Given the description of an element on the screen output the (x, y) to click on. 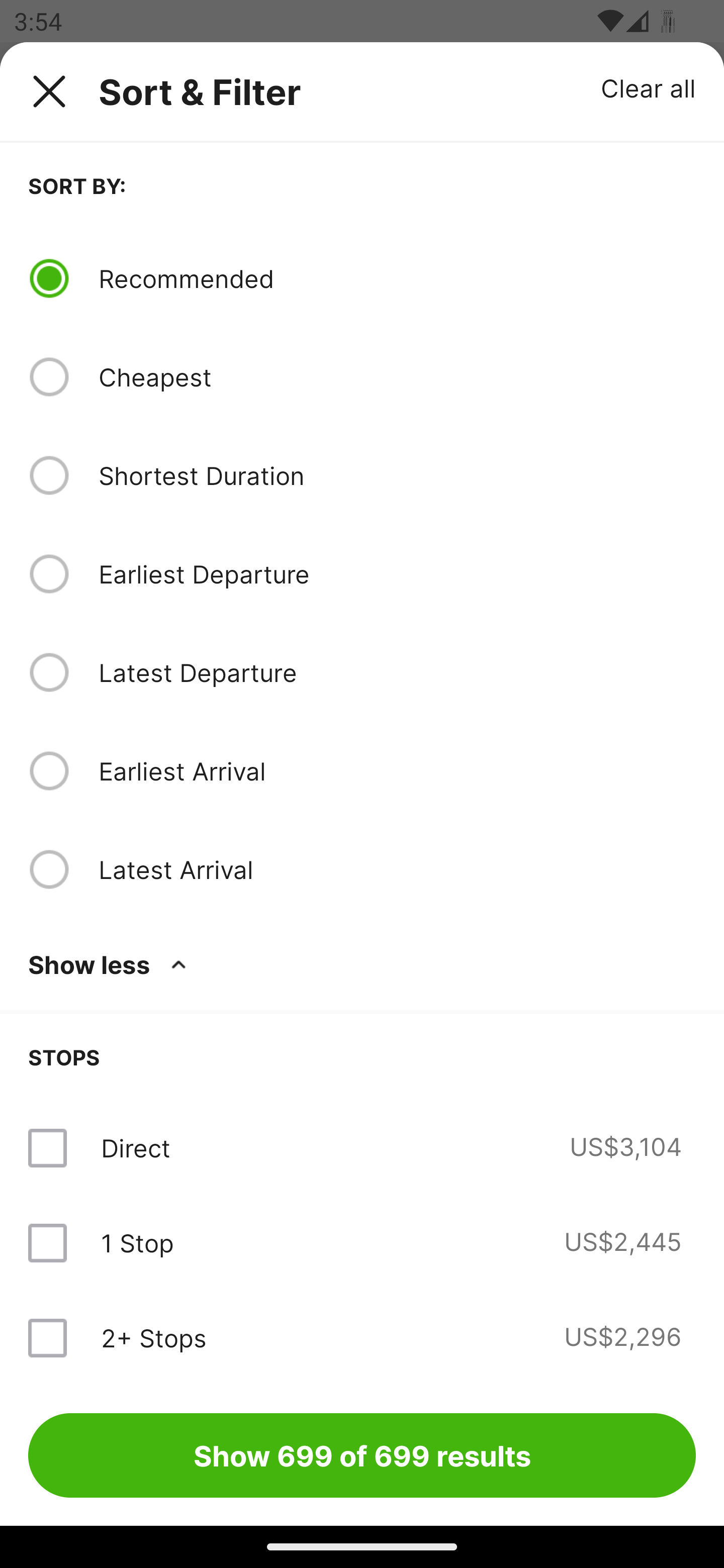
Clear all (648, 87)
Recommended  (396, 278)
Cheapest (396, 377)
Shortest Duration (396, 474)
Earliest Departure (396, 573)
Latest Departure (396, 672)
Earliest Arrival (396, 770)
Latest Arrival (396, 869)
Show less (110, 964)
Direct US$3,104 (362, 1147)
Direct (135, 1147)
1 Stop US$2,445 (362, 1242)
1 Stop (136, 1242)
2+ Stops US$2,296 (362, 1337)
2+ Stops (153, 1337)
Show 699 of 699 results (361, 1454)
